Given the description of an element on the screen output the (x, y) to click on. 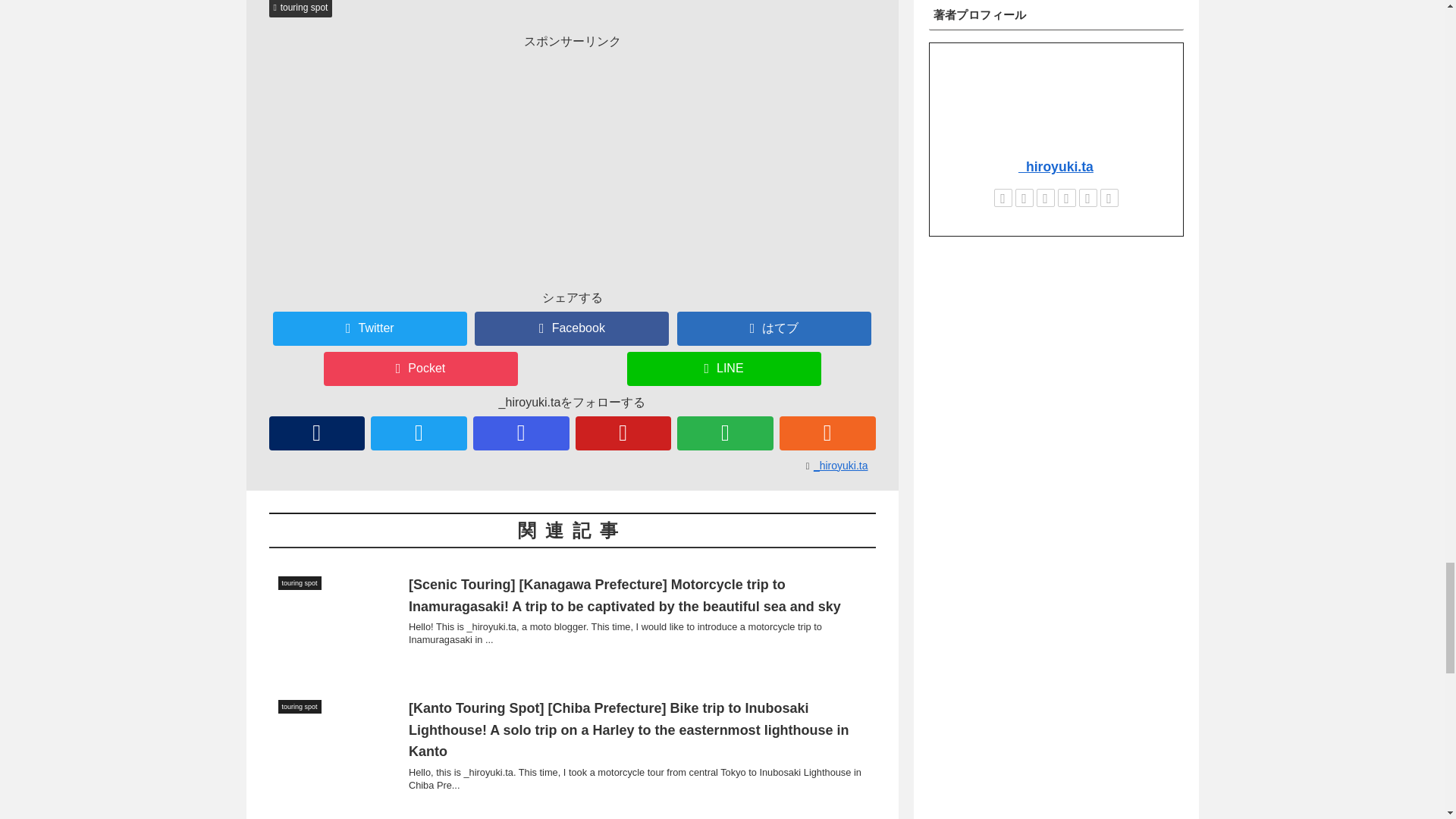
Twitter (370, 328)
LINE (723, 368)
touring spot (299, 9)
Pocket (419, 368)
Facebook (571, 328)
